Given the description of an element on the screen output the (x, y) to click on. 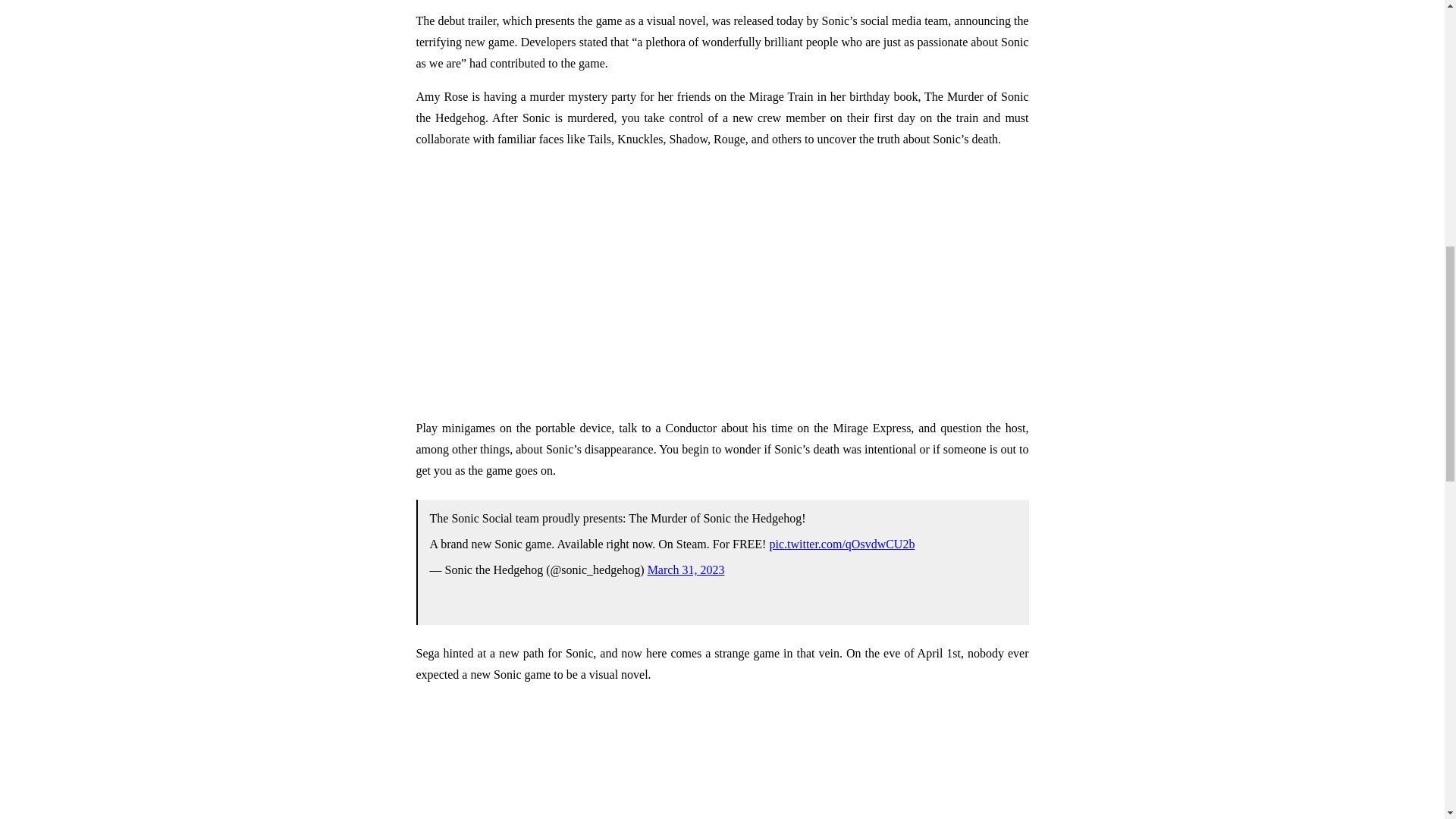
Twitter (720, 567)
3rd party ad content (720, 758)
March 31, 2023 (686, 569)
